Given the description of an element on the screen output the (x, y) to click on. 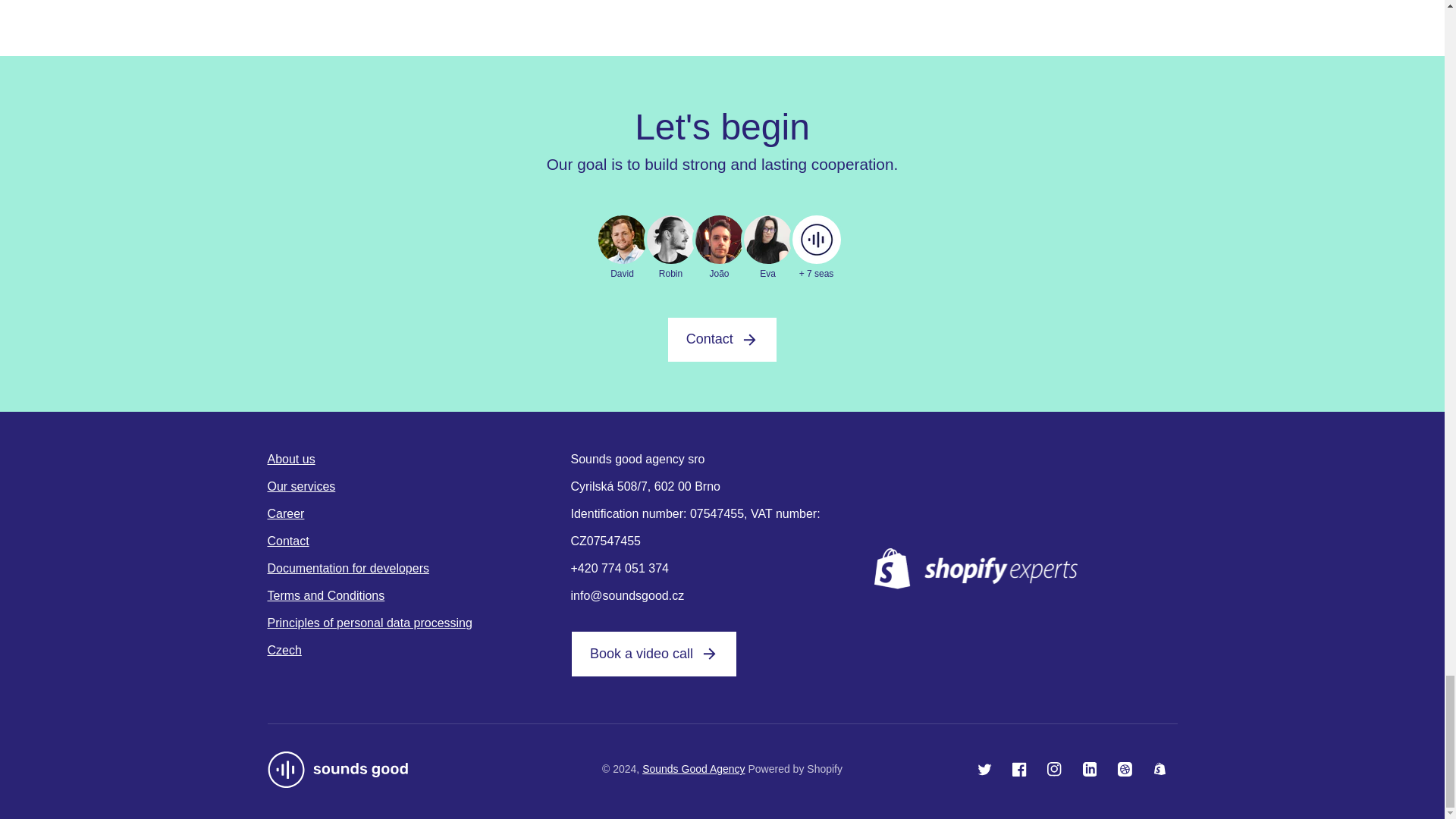
Book a video call (653, 653)
Contact (722, 339)
Terms and Conditions (418, 595)
Career (418, 513)
Book a video call (653, 653)
Our services (418, 486)
Sounds Good Agency (693, 768)
Contact (722, 339)
About us (418, 459)
Czech (418, 647)
Principles of personal data processing (418, 623)
Documentation for developers (418, 568)
Contact (418, 541)
